Given the description of an element on the screen output the (x, y) to click on. 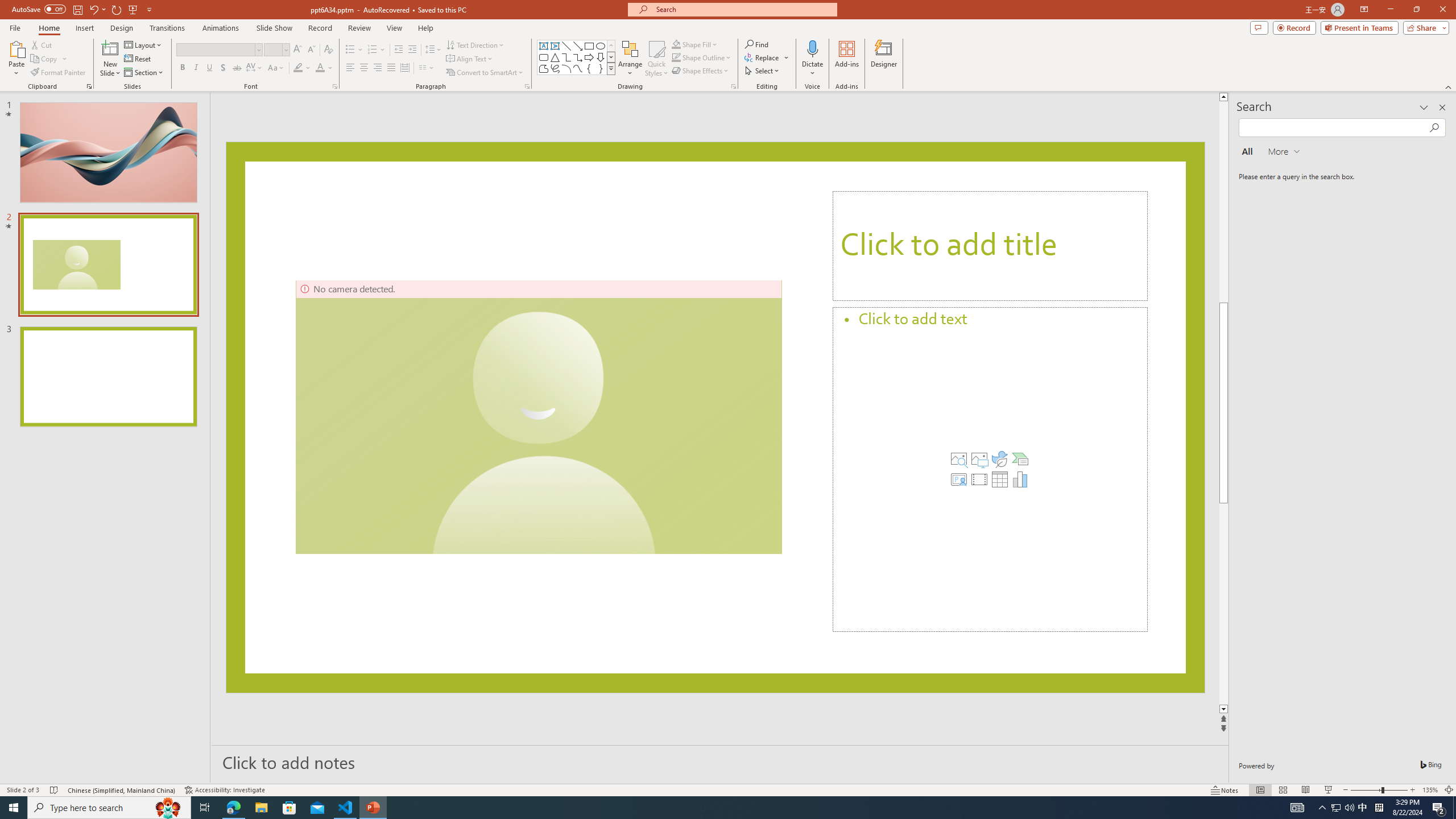
Line up (1225, 96)
Design (122, 28)
Zoom (1379, 790)
Numbering (376, 49)
Page up (1225, 201)
